Given the description of an element on the screen output the (x, y) to click on. 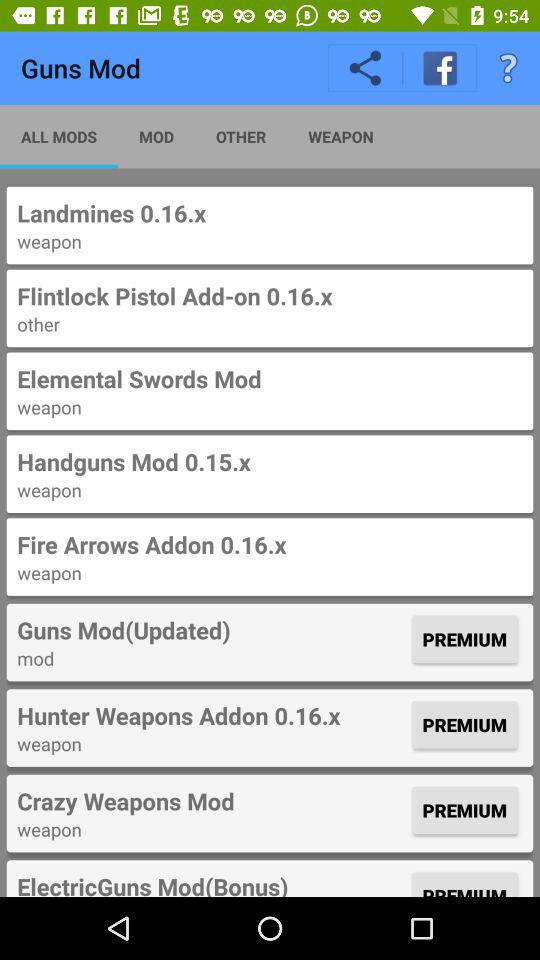
choose the electricguns mod(bonus) icon (211, 883)
